Given the description of an element on the screen output the (x, y) to click on. 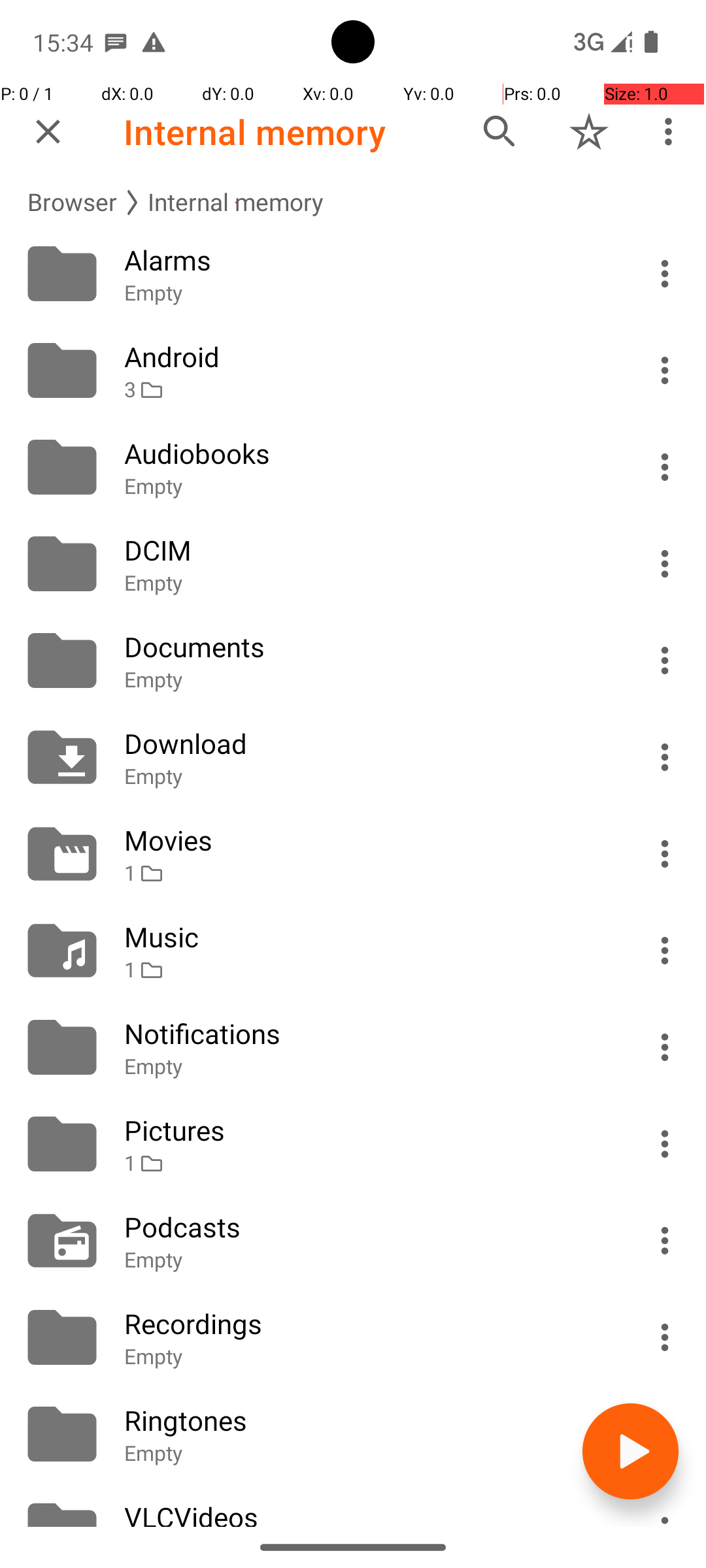
Internal memory Element type: android.widget.TextView (254, 131)
Add to favorites Element type: android.widget.TextView (588, 131)
Play Element type: android.widget.ImageButton (630, 1451)
Browser Element type: android.widget.TextView (72, 202)
Folder: Alarms, Empty Element type: android.view.ViewGroup (353, 273)
Folder: Android, 3 subfolders Element type: android.view.ViewGroup (353, 370)
Folder: Audiobooks, Empty Element type: android.view.ViewGroup (353, 466)
Folder: DCIM, Empty Element type: android.view.ViewGroup (353, 563)
Folder: Documents, Empty Element type: android.view.ViewGroup (353, 660)
Folder: Download, Empty Element type: android.view.ViewGroup (353, 756)
Folder: Movies, 1 subfolder Element type: android.view.ViewGroup (353, 853)
Folder: Music, 1 subfolder Element type: android.view.ViewGroup (353, 950)
Folder: Notifications, Empty Element type: android.view.ViewGroup (353, 1046)
Folder: Pictures, 1 subfolder Element type: android.view.ViewGroup (353, 1143)
Folder: Podcasts, Empty Element type: android.view.ViewGroup (353, 1240)
Folder: Recordings, Empty Element type: android.view.ViewGroup (353, 1337)
Folder: Ringtones, Empty Element type: android.view.ViewGroup (353, 1433)
Folder: VLCVideos, 10 media files Element type: android.view.ViewGroup (353, 1504)
Alarms Element type: android.widget.TextView (366, 259)
Empty Element type: android.widget.TextView (366, 292)
More Actions Element type: android.widget.ImageView (664, 273)
Android Element type: android.widget.TextView (366, 356)
3 §*§ Element type: android.widget.TextView (366, 389)
Audiobooks Element type: android.widget.TextView (366, 452)
DCIM Element type: android.widget.TextView (366, 549)
Movies Element type: android.widget.TextView (366, 839)
1 §*§ Element type: android.widget.TextView (366, 872)
Pictures Element type: android.widget.TextView (366, 1129)
Podcasts Element type: android.widget.TextView (366, 1226)
Recordings Element type: android.widget.TextView (366, 1322)
Ringtones Element type: android.widget.TextView (366, 1419)
VLCVideos Element type: android.widget.TextView (366, 1512)
